Given the description of an element on the screen output the (x, y) to click on. 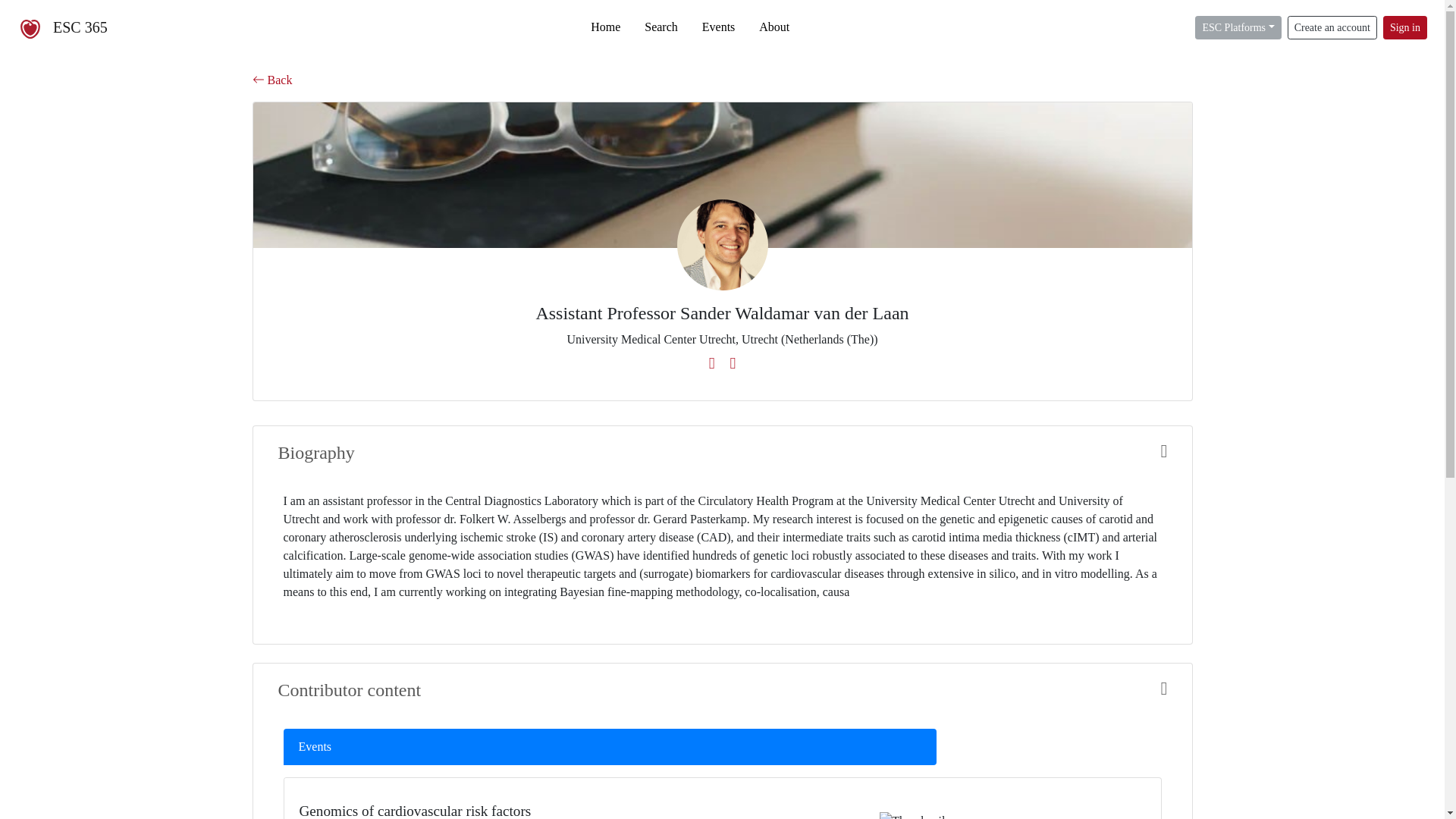
Contributor content (721, 689)
Create an account (1332, 26)
Sign in (1404, 26)
Events (609, 746)
Biography (721, 453)
Search (660, 27)
About (774, 27)
ESC Platforms (1238, 26)
Home (604, 27)
Events (719, 27)
